Given the description of an element on the screen output the (x, y) to click on. 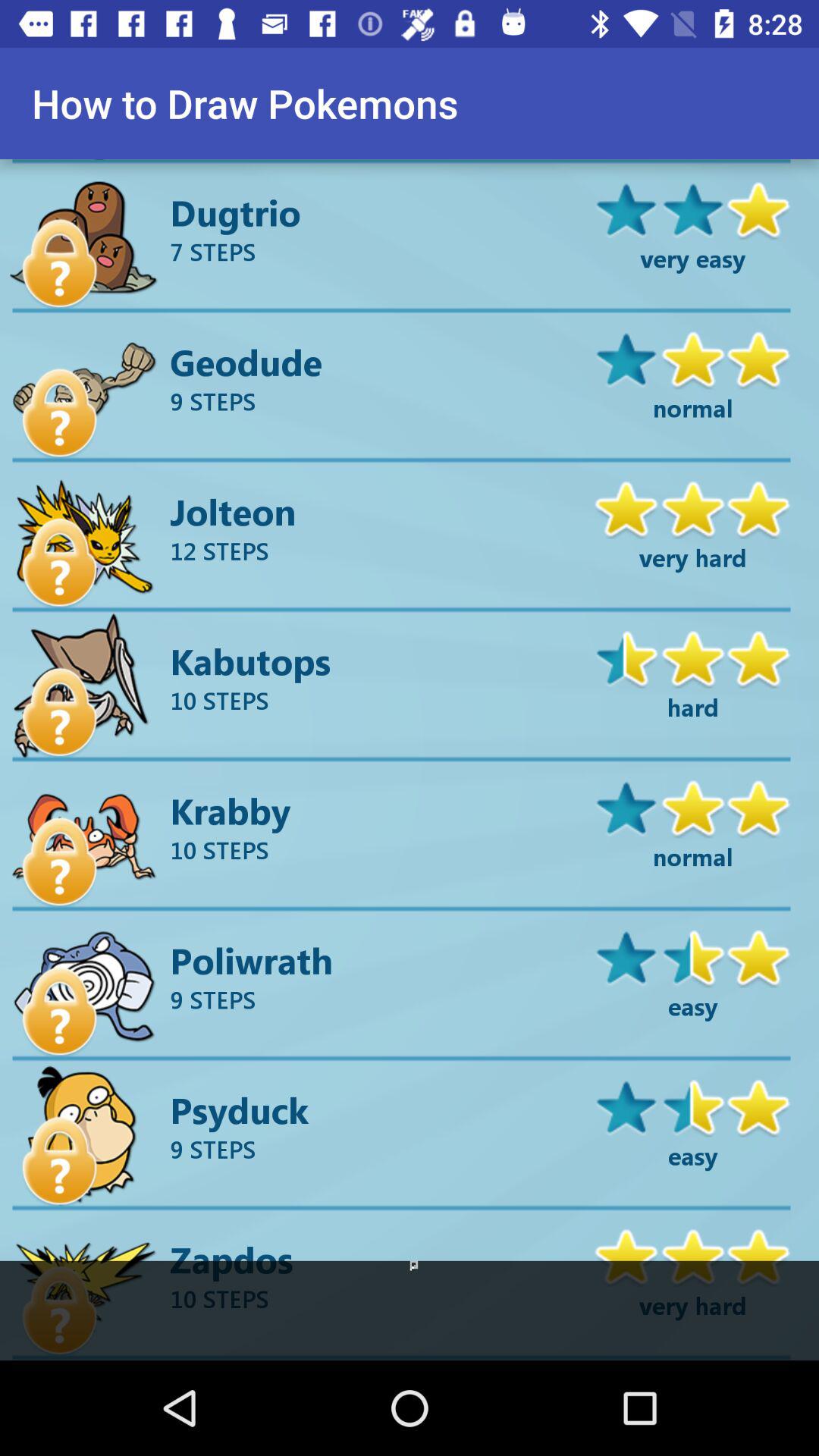
select icon which is left to the text jolteon (84, 537)
go to the right above very hard  beside jolteon (693, 507)
select the icon which is left to the text jolteon (59, 562)
go to top of easy (693, 1105)
